Given the description of an element on the screen output the (x, y) to click on. 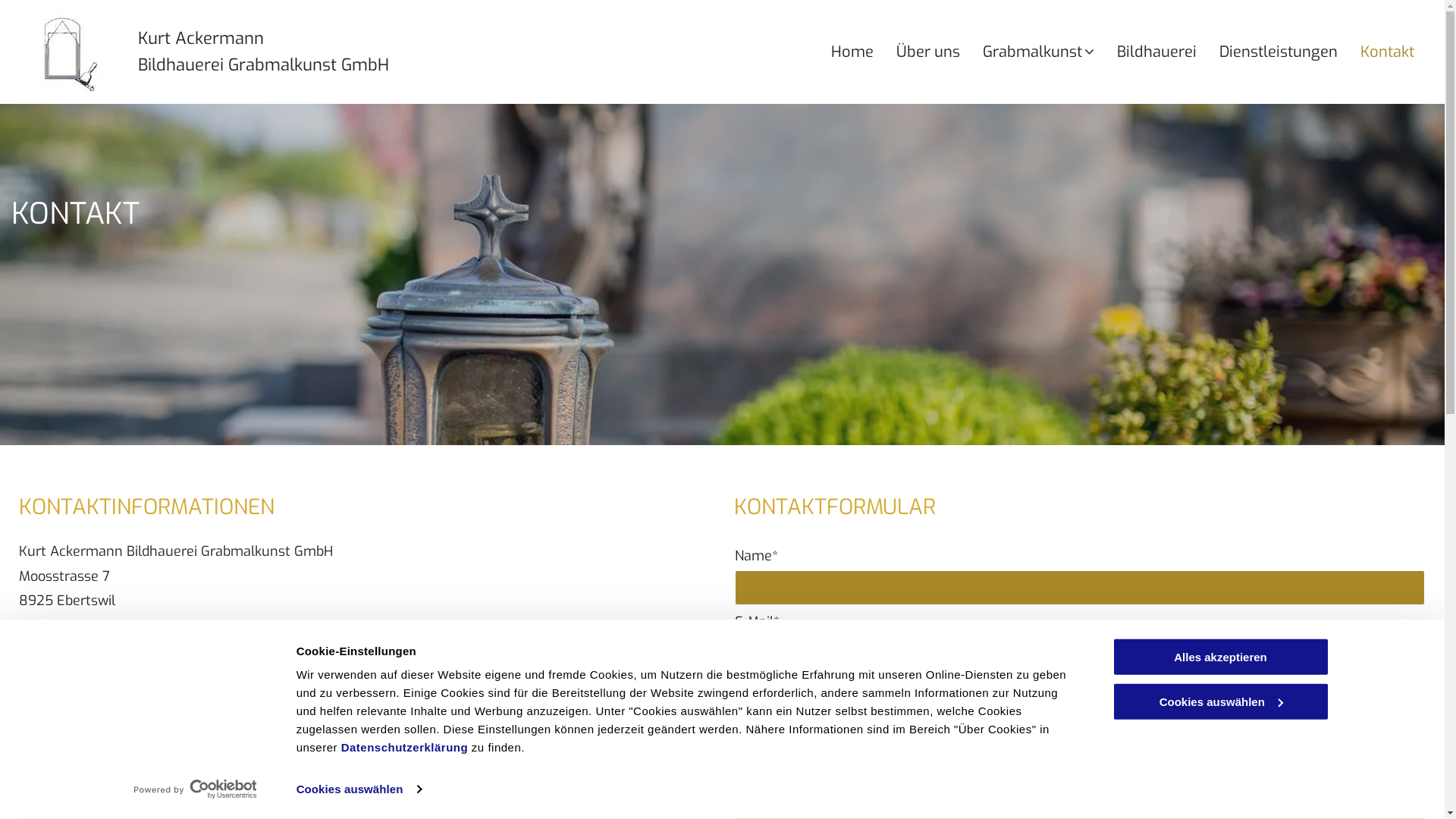
Home Element type: text (863, 51)
info@ackermann-bildhauerei.ch Element type: text (164, 726)
Alles akzeptieren Element type: text (1219, 656)
079 607 43 14 Element type: text (119, 701)
Bildhauerei Element type: text (1168, 51)
Dienstleistungen Element type: text (1289, 51)
Bildhauerei Grabmalkunst GmbH Element type: text (263, 64)
Kurt Ackermann Element type: text (200, 38)
Kontakt Element type: text (1398, 51)
Grabmalkunst Element type: text (1049, 51)
079 445 20 29 Element type: text (111, 675)
044 764 24 84 Element type: text (120, 649)
